Given the description of an element on the screen output the (x, y) to click on. 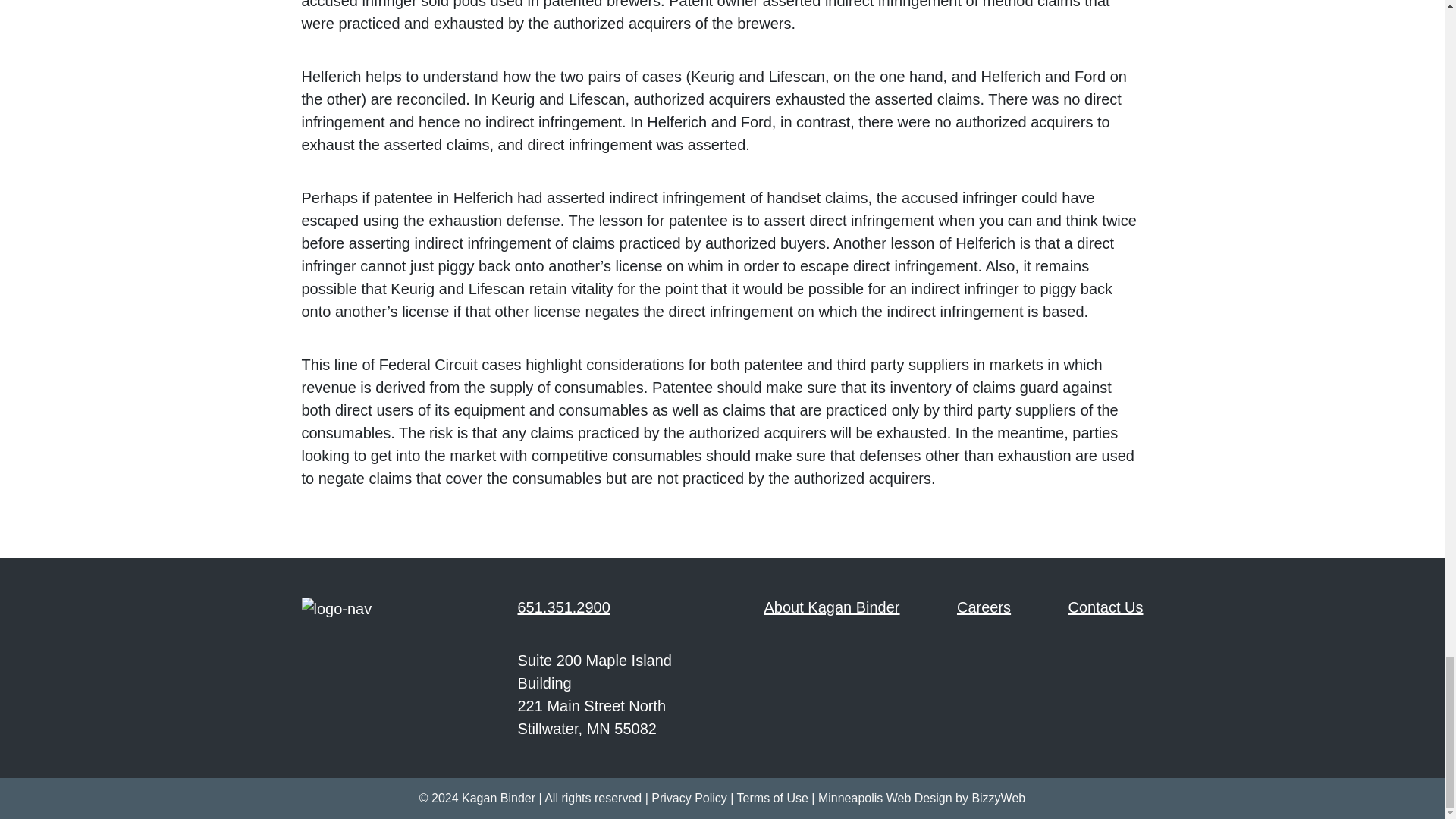
Contact Us (1105, 606)
Privacy Policy (688, 797)
About Kagan Binder (831, 606)
651.351.2900 (563, 606)
Careers (983, 606)
Terms of Use (772, 797)
